Given the description of an element on the screen output the (x, y) to click on. 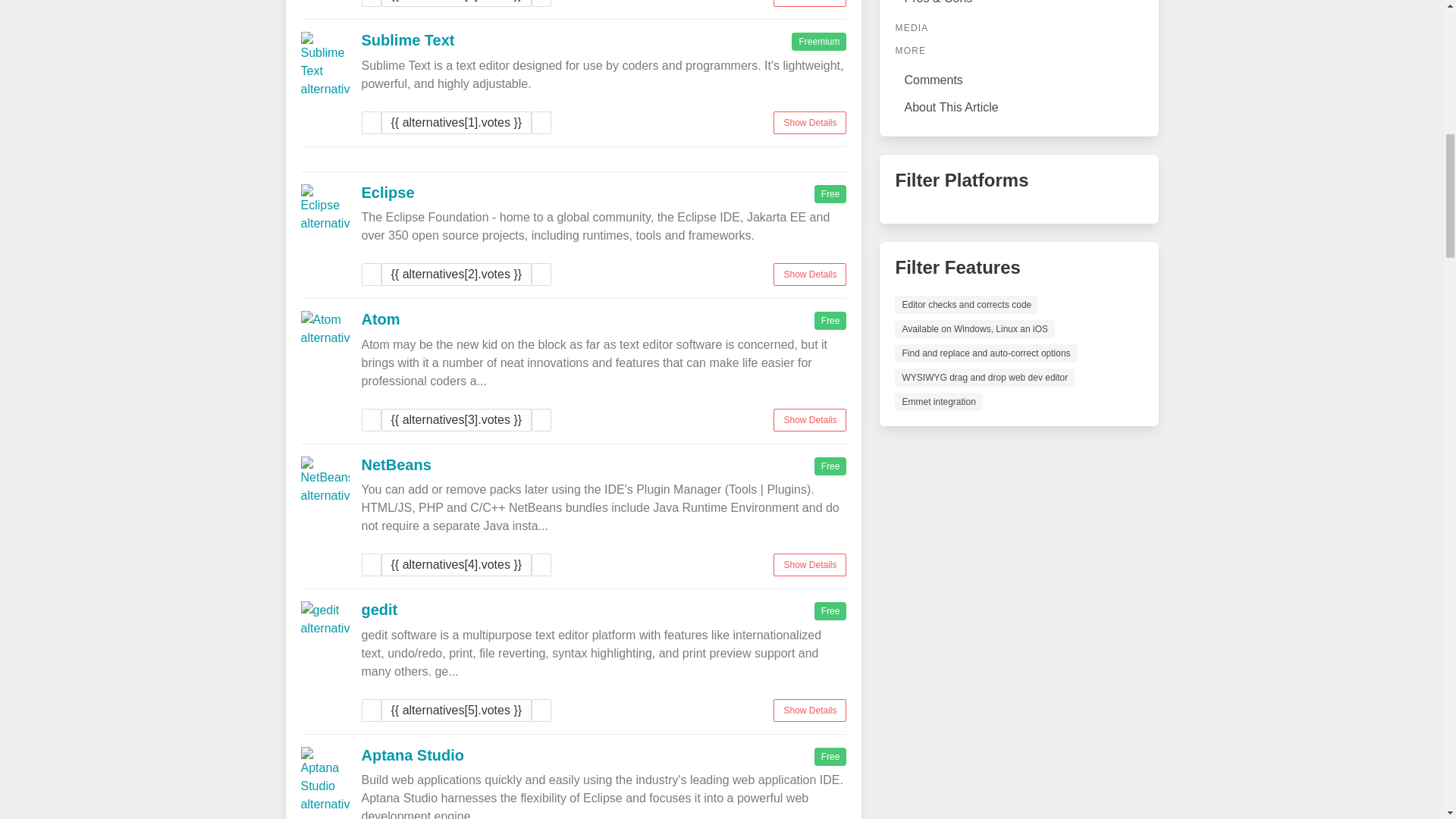
Show Details (809, 121)
Sublime Text (407, 39)
Show Details (809, 3)
Show Details (809, 564)
NetBeans (395, 464)
Atom (379, 319)
gedit (379, 609)
Show Details (809, 710)
Show Details (809, 273)
Show Details (809, 418)
